Given the description of an element on the screen output the (x, y) to click on. 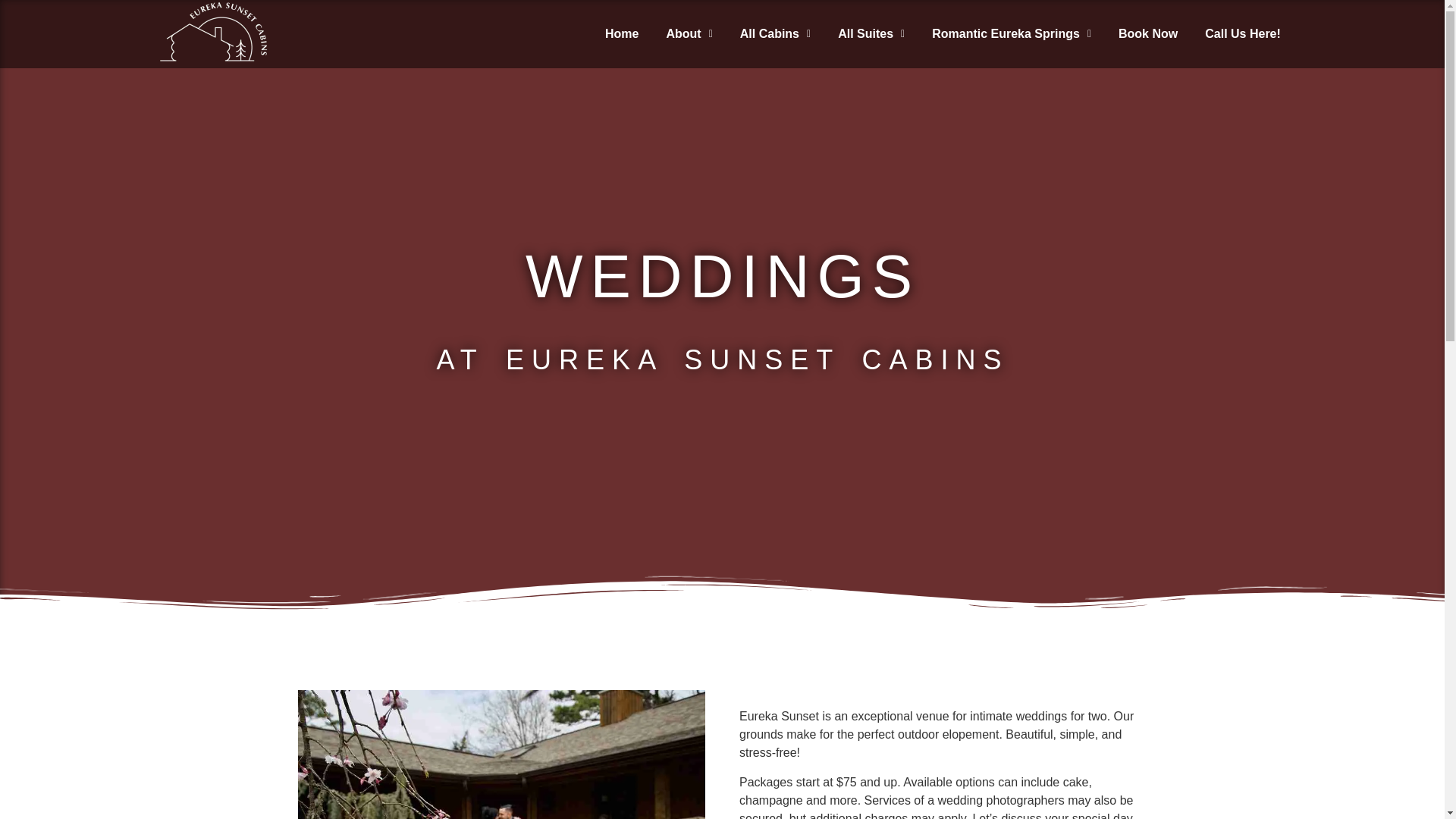
About (689, 33)
All Suites (870, 33)
Book Now (1147, 33)
All Cabins (775, 33)
Romantic Eureka Springs (1011, 33)
Call Us Here! (1242, 33)
Home (621, 33)
